Given the description of an element on the screen output the (x, y) to click on. 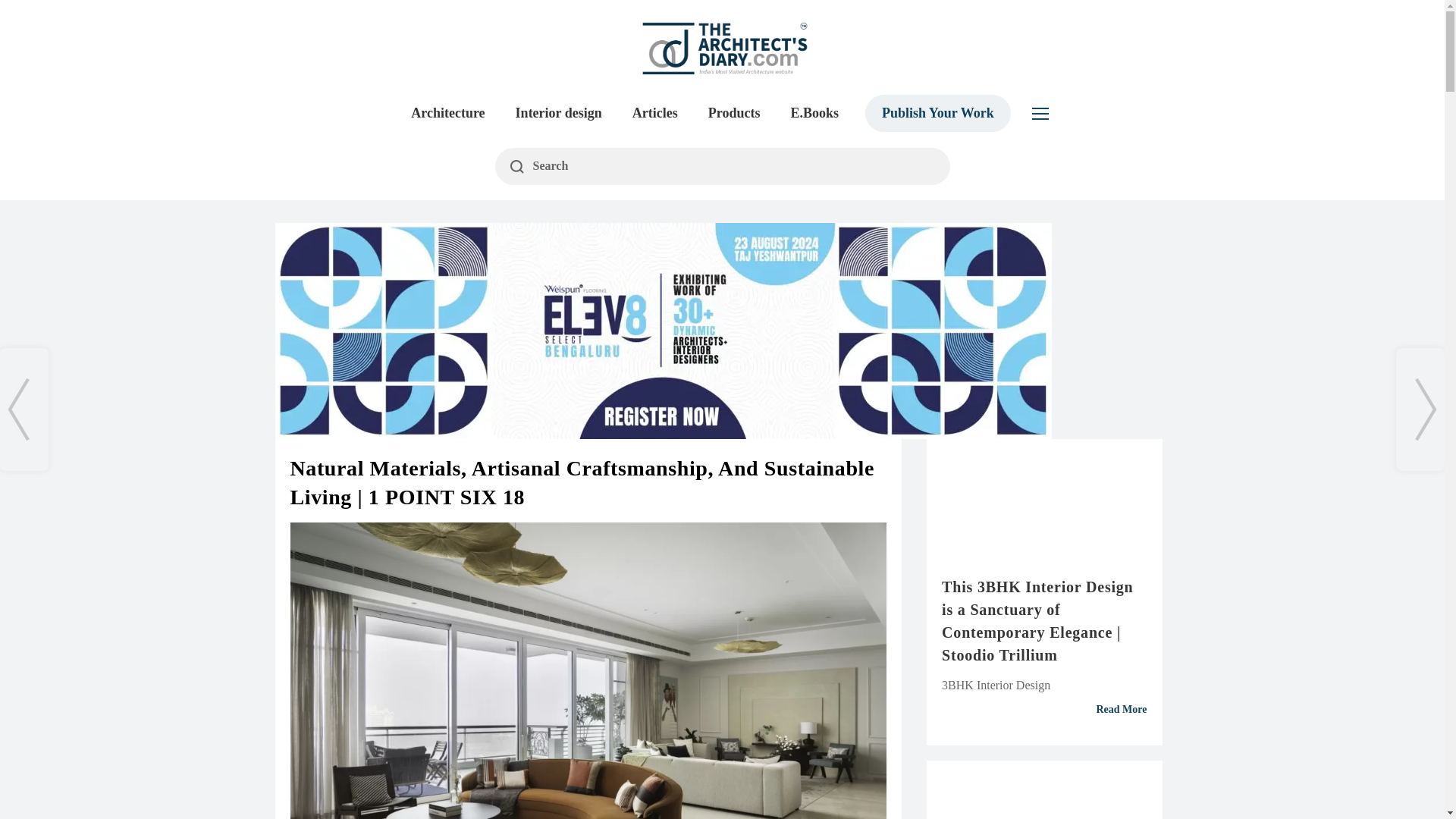
Products (734, 113)
E.Books (813, 113)
Publish Your Work (937, 113)
Read More (1044, 709)
search (722, 166)
Articles (655, 113)
Interior design (558, 113)
Architecture (447, 113)
